Given the description of an element on the screen output the (x, y) to click on. 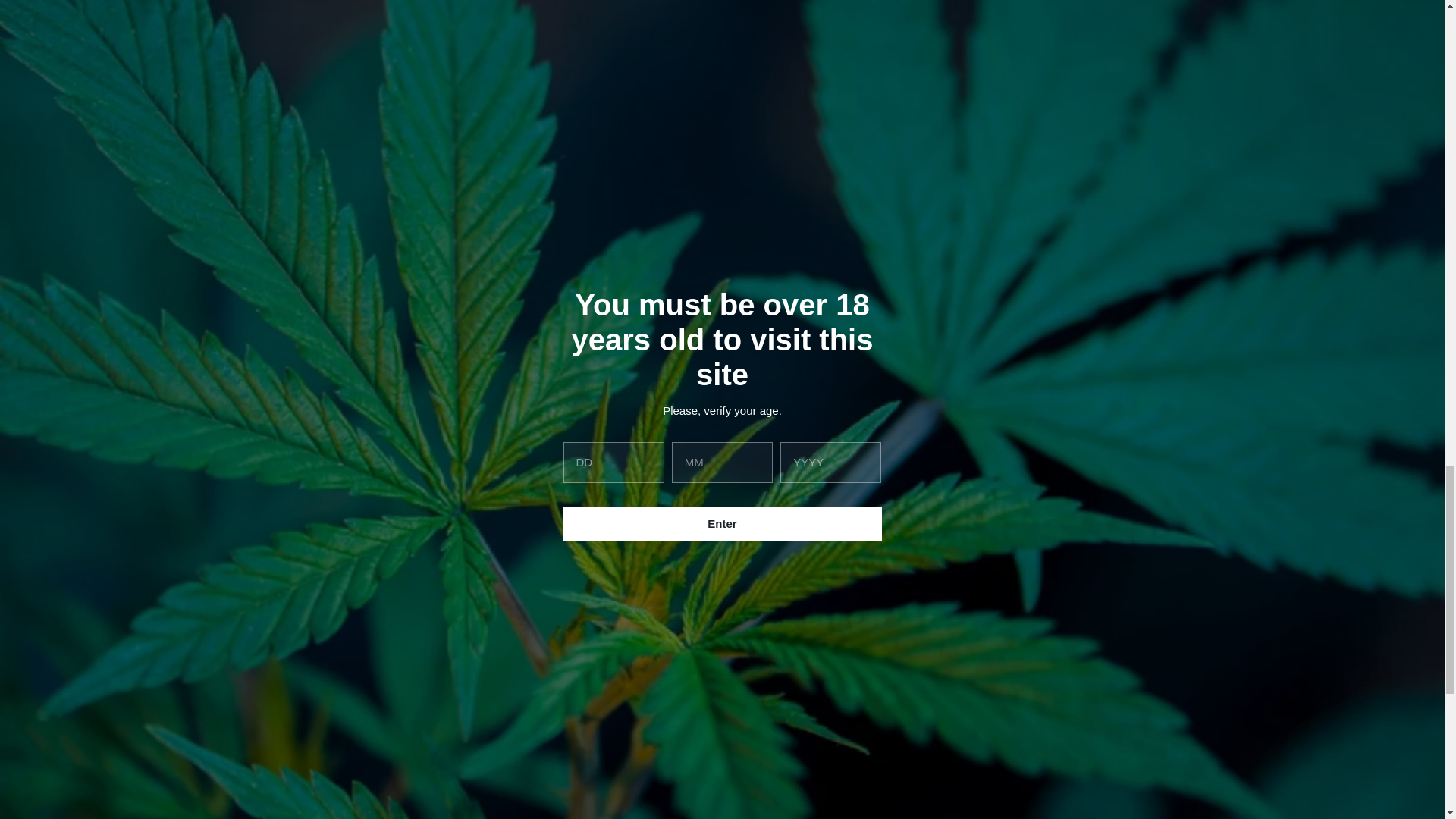
The Nose Knows (1046, 739)
0 (721, 678)
0 (555, 739)
We All Go A Little Mad Sometimes (990, 419)
Call The Pocket (440, 739)
See All (931, 739)
0 (967, 685)
